Given the description of an element on the screen output the (x, y) to click on. 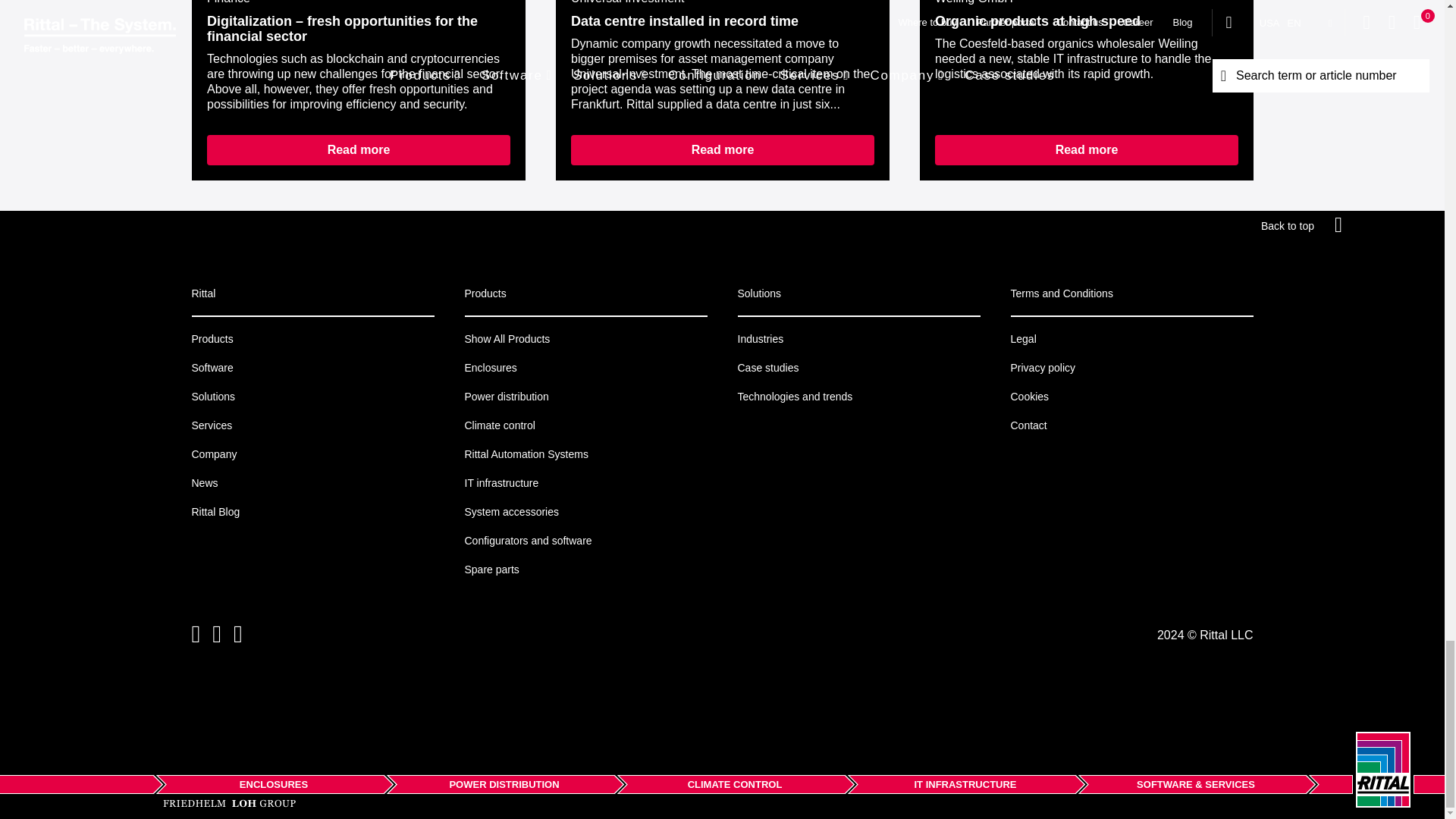
Back to top (1303, 225)
